Given the description of an element on the screen output the (x, y) to click on. 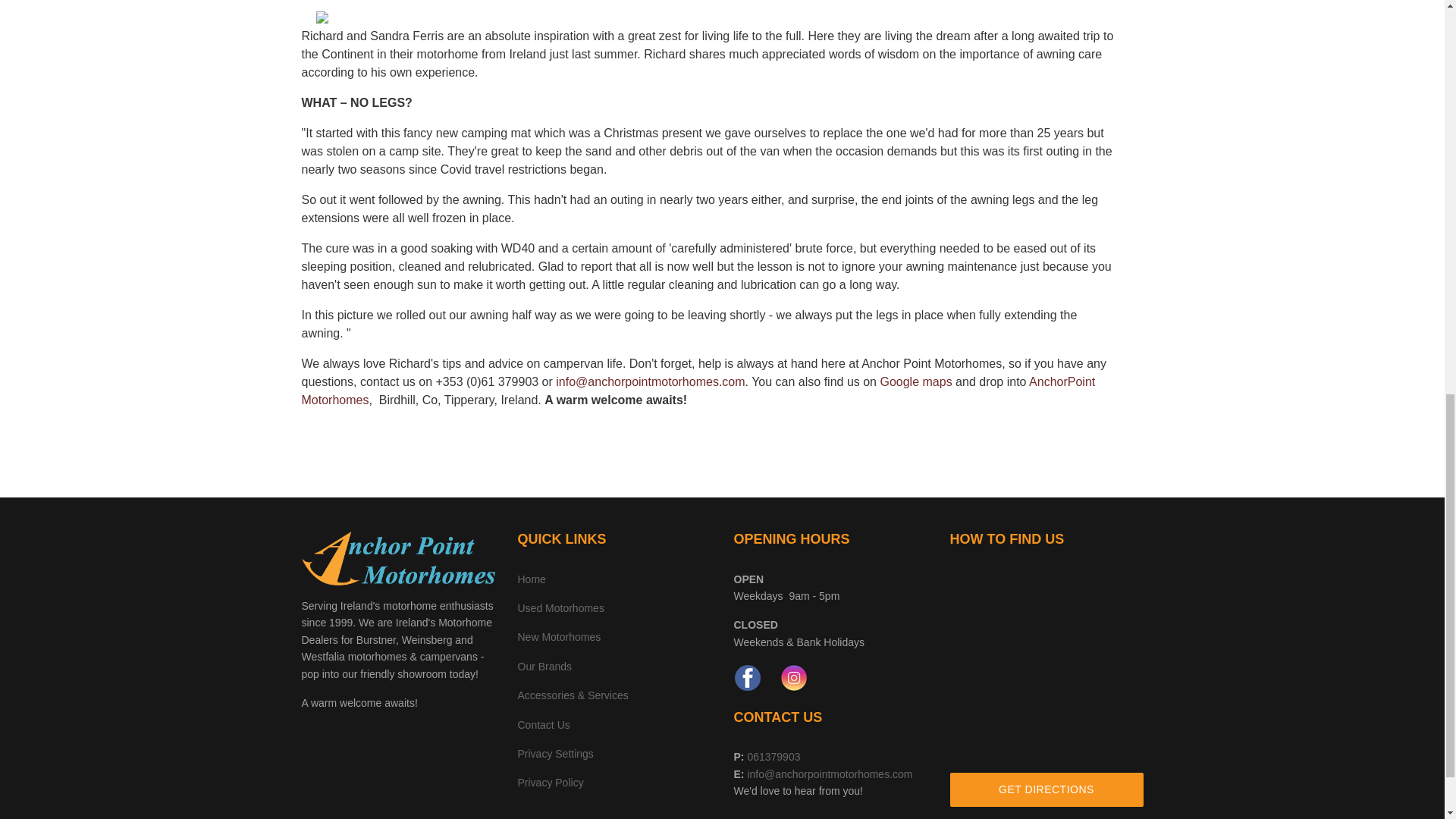
Home (530, 579)
GET DIRECTIONS (1045, 789)
Contact Us (542, 725)
New Motorhomes (557, 636)
Privacy Settings (554, 753)
Our Brands (544, 666)
061379903 (772, 756)
Used Motorhomes (560, 607)
AnchorPoint Motorhomes (698, 390)
Google maps (915, 381)
